Given the description of an element on the screen output the (x, y) to click on. 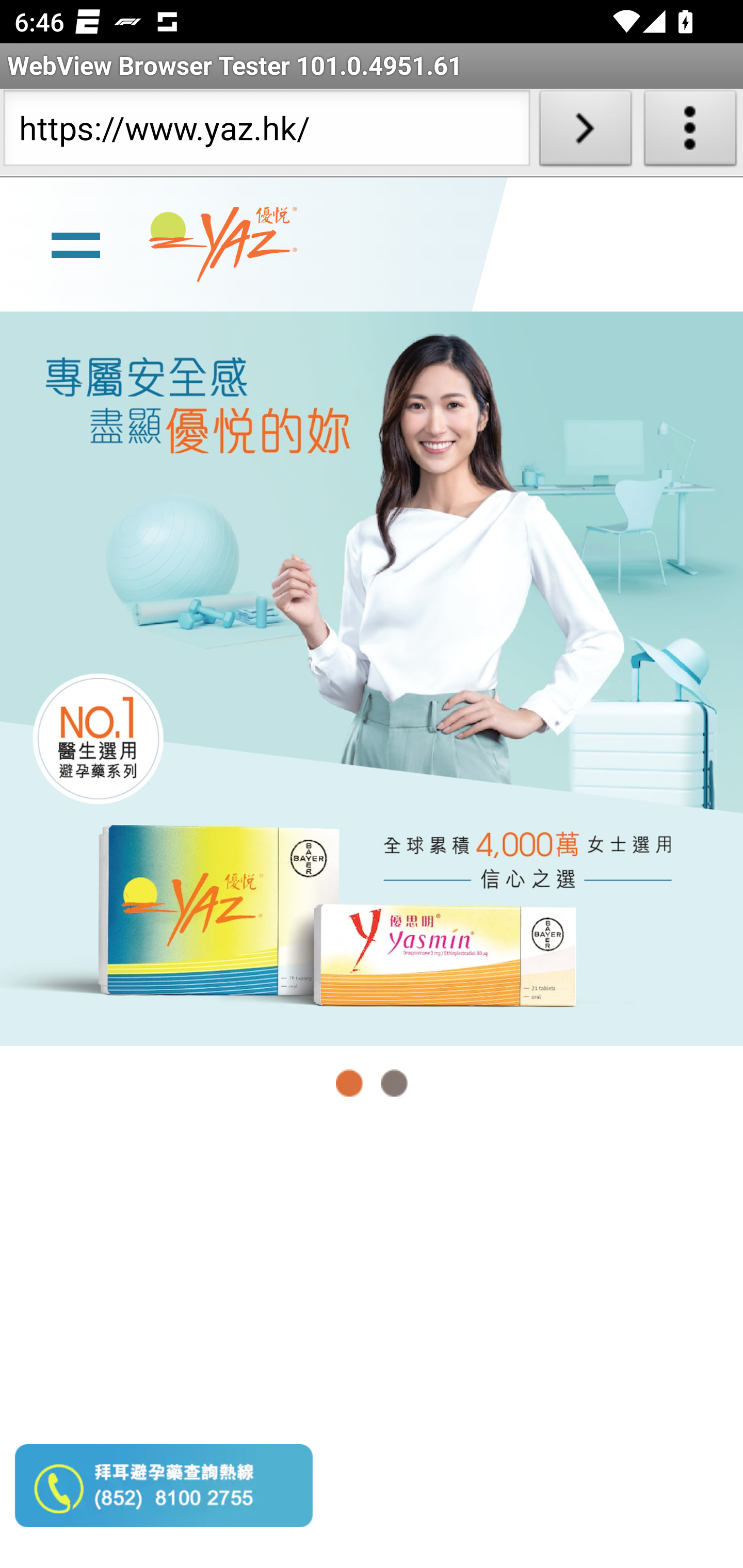
https://www.yaz.hk/ (266, 132)
Load URL (585, 132)
About WebView (690, 132)
www.yaz (222, 244)
line Toggle burger menu (75, 242)
slide 1 Alt tag Alt tag (371, 677)
1 of 2 (349, 1083)
2 of 2 (393, 1083)
Video Player (371, 1345)
